Given the description of an element on the screen output the (x, y) to click on. 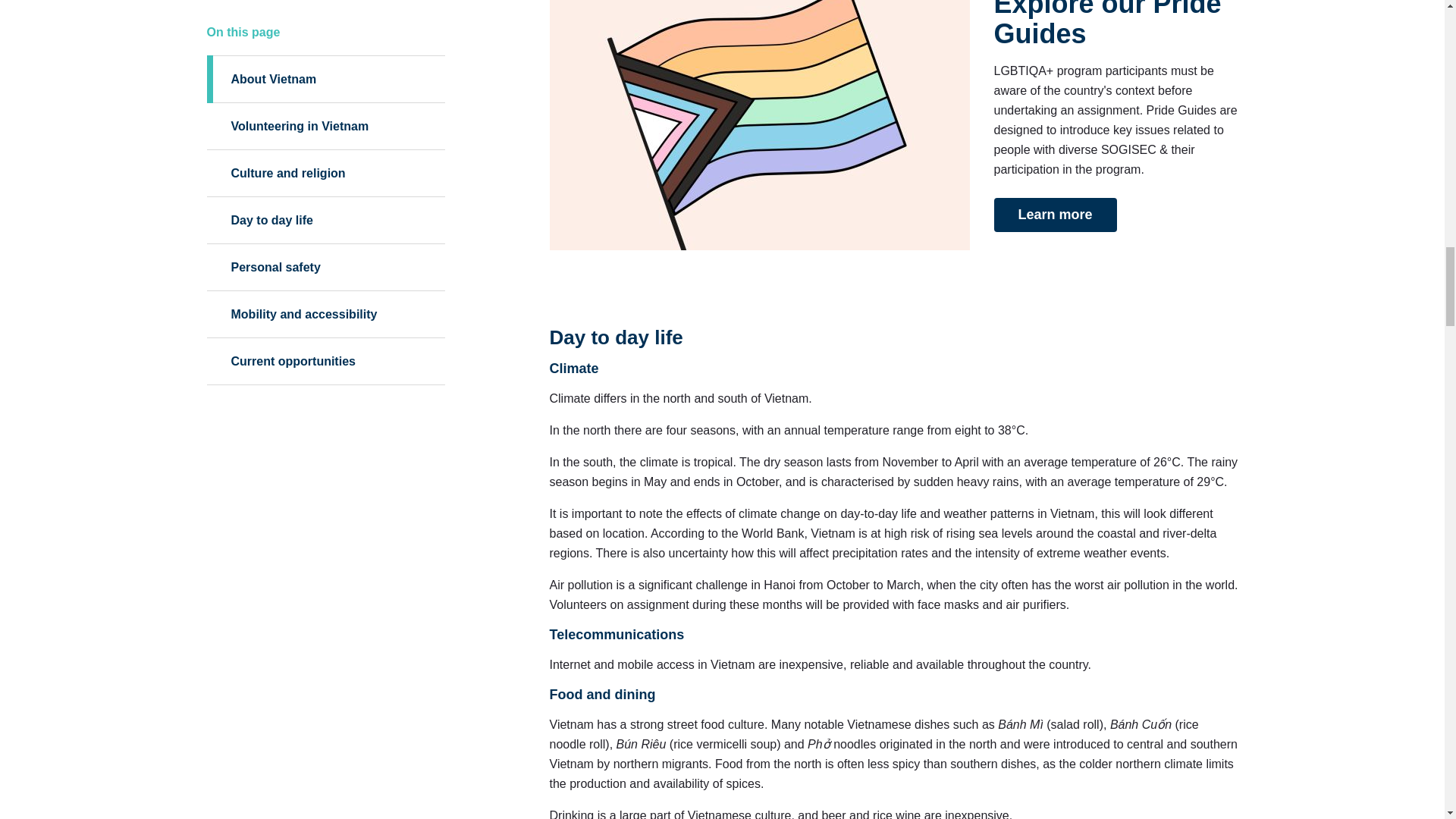
Learn more (1054, 213)
